Given the description of an element on the screen output the (x, y) to click on. 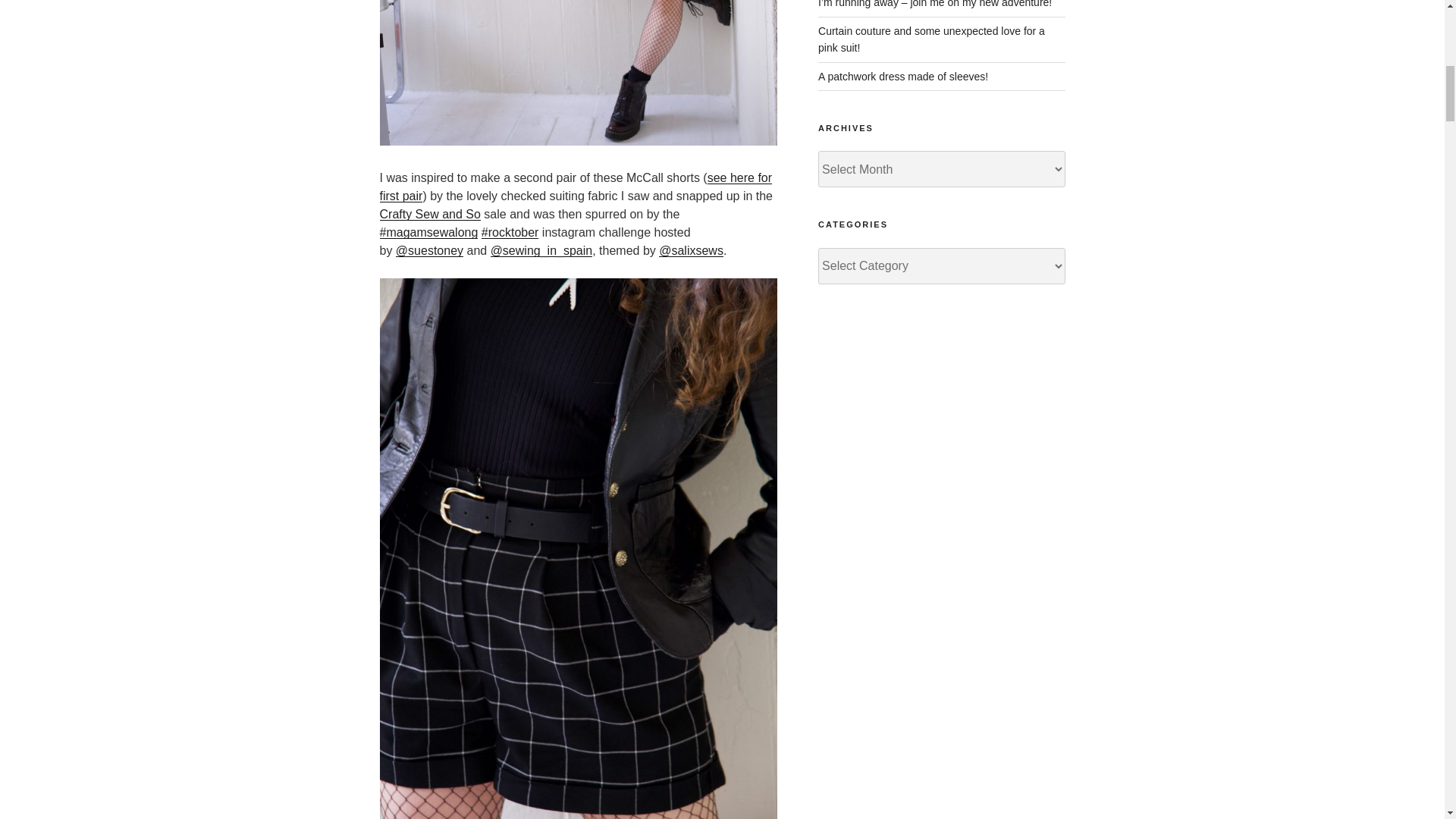
see here for first pair (574, 186)
Crafty Sew and So (429, 214)
